Given the description of an element on the screen output the (x, y) to click on. 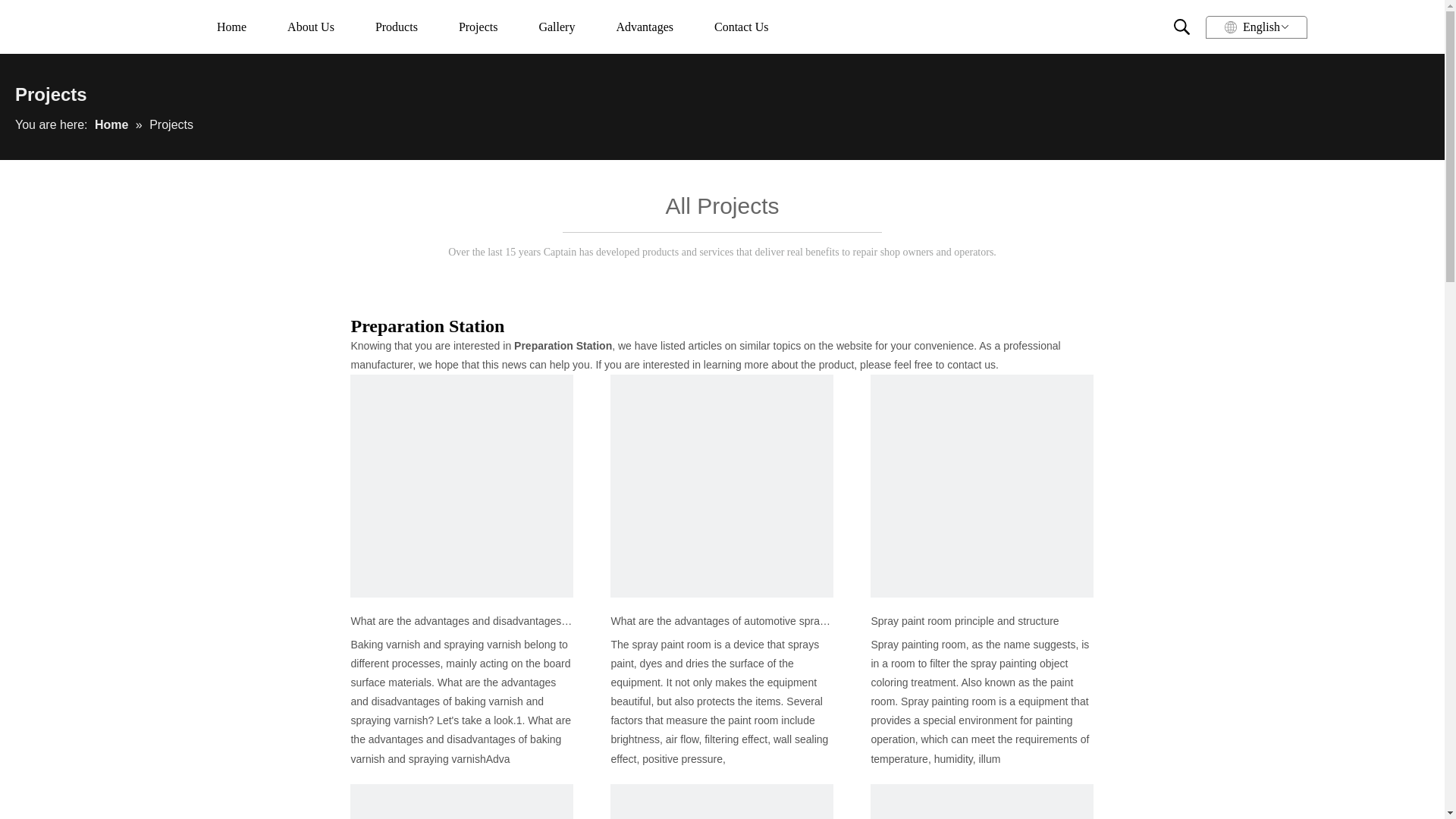
Spray paint room principle and structure (981, 620)
Home (232, 26)
Projects (477, 26)
Products (396, 26)
Gallery (556, 26)
Advantages (644, 26)
About Us (310, 26)
What are the advantages of automotive spray paint booths? (721, 620)
